Given the description of an element on the screen output the (x, y) to click on. 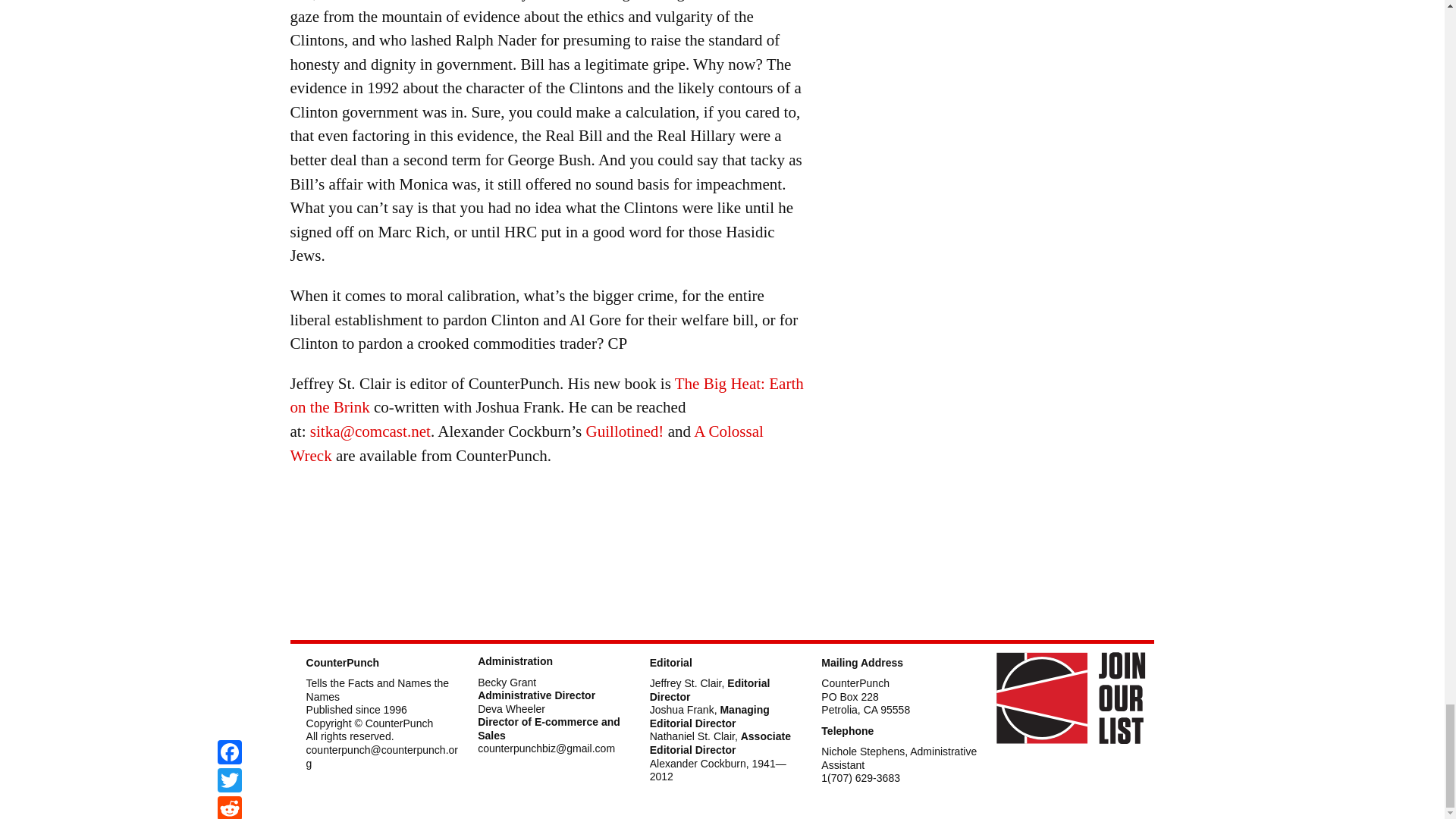
The Big Heat: Earth on the Brink (546, 395)
Guillotined! (624, 431)
A Colossal Wreck (525, 443)
